Given the description of an element on the screen output the (x, y) to click on. 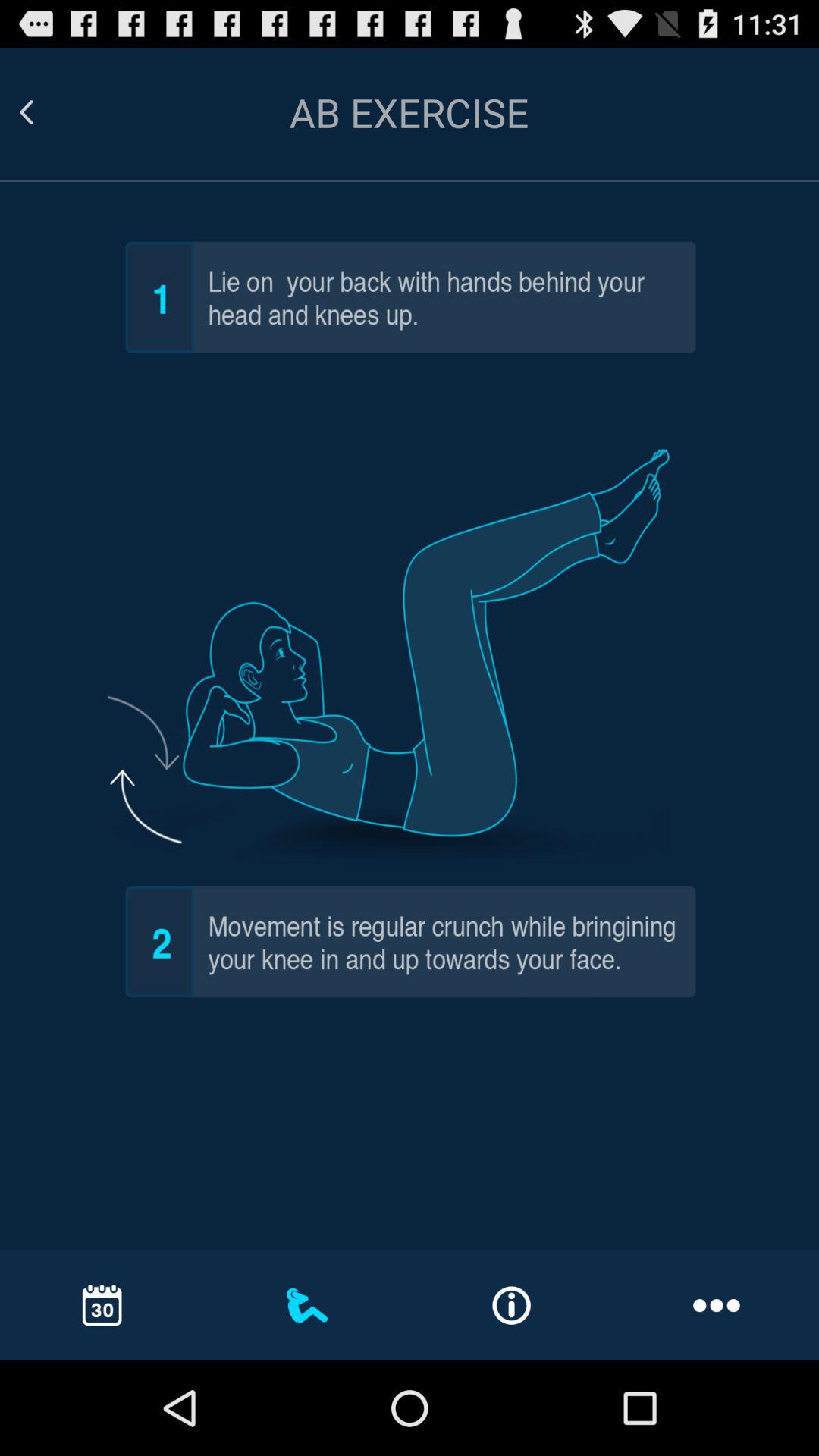
go to previous (44, 112)
